Given the description of an element on the screen output the (x, y) to click on. 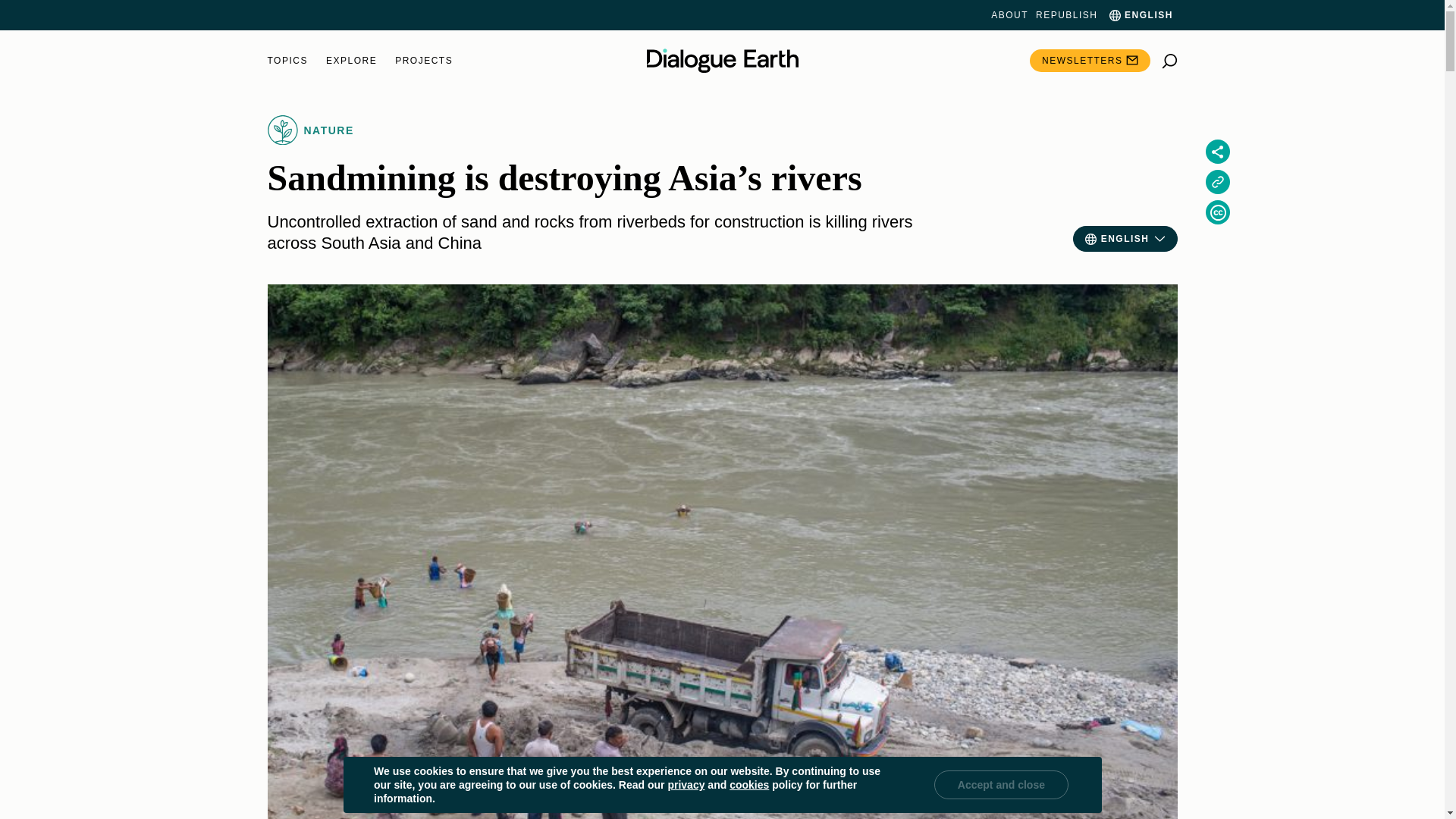
ENGLISH (1139, 15)
TOPICS (286, 60)
ABOUT (1009, 14)
English (1139, 15)
REPUBLISH (1066, 14)
EXPLORE (351, 60)
